Given the description of an element on the screen output the (x, y) to click on. 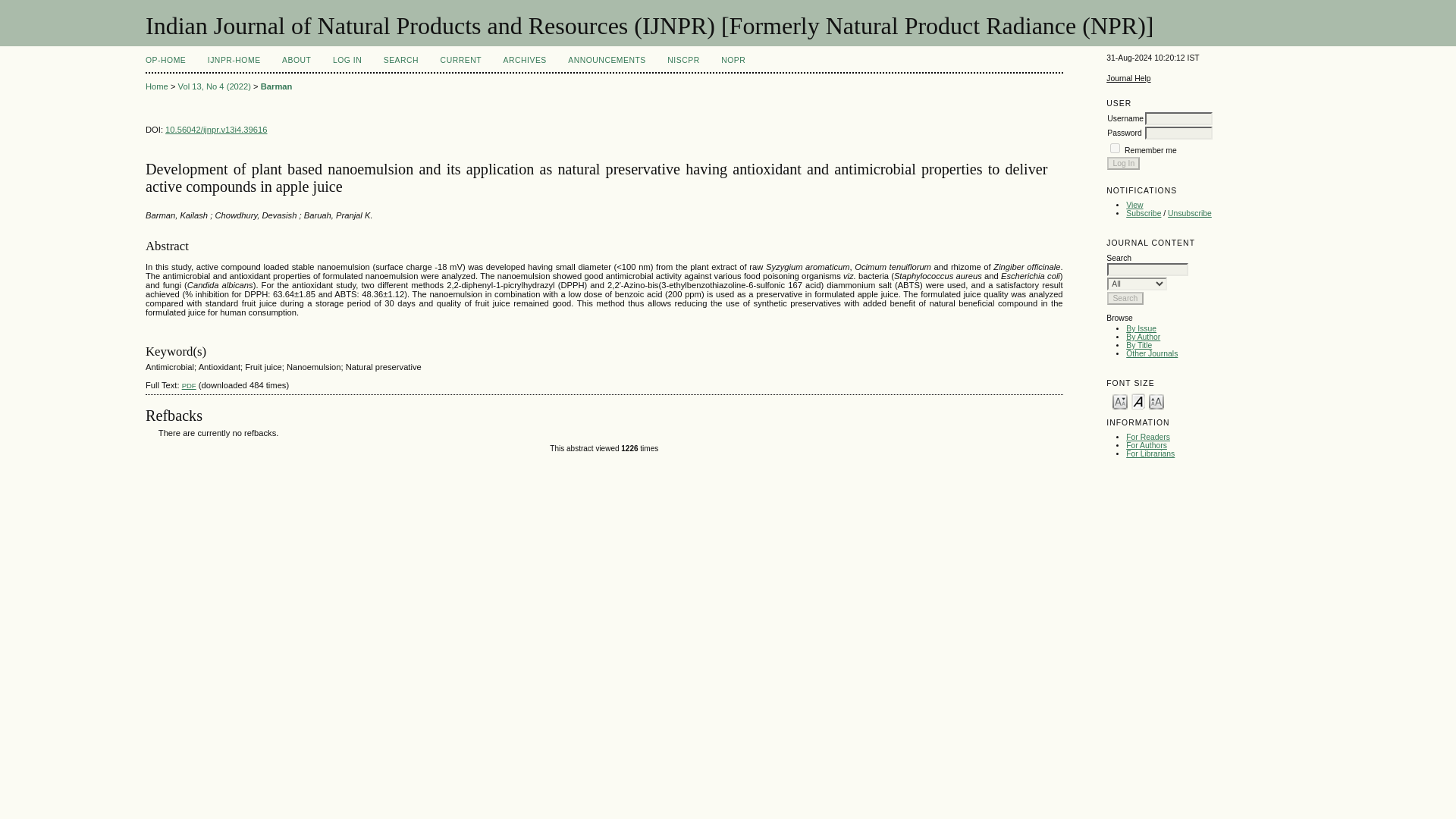
NOPR (732, 60)
ANNOUNCEMENTS (606, 60)
SEARCH (401, 60)
CURRENT (461, 60)
By Issue (1140, 328)
NISCPR (682, 60)
Journal Help (1128, 78)
Search (1124, 297)
OP-HOME (165, 60)
Barman (276, 85)
